Given the description of an element on the screen output the (x, y) to click on. 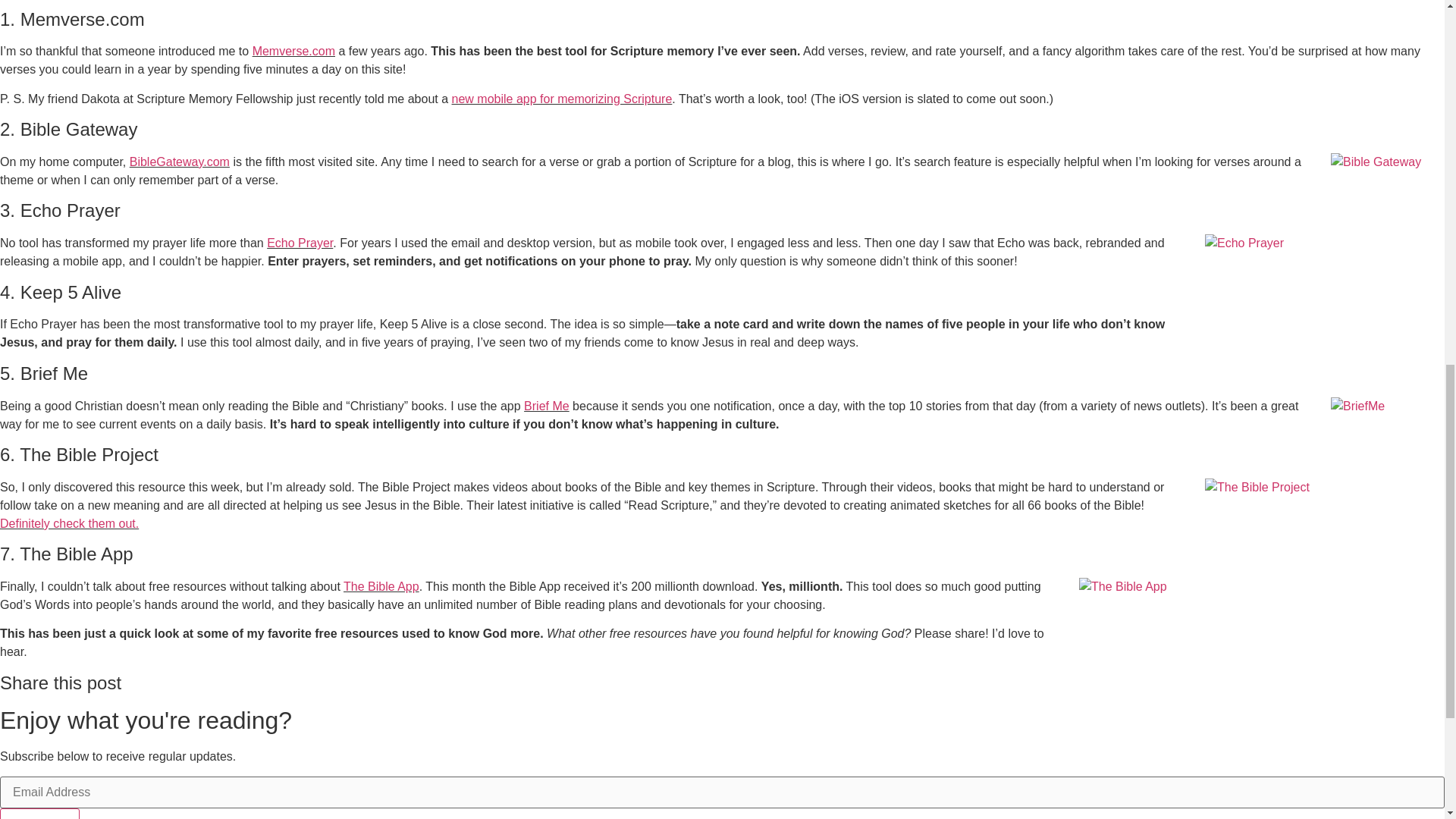
Brief Me (546, 405)
Memverse.com (292, 51)
Definitely check them out. (69, 522)
The Bible App (381, 585)
Echo Prayer (299, 242)
new mobile app for memorizing Scripture (561, 98)
BibleGateway.com (179, 161)
Subscribe (40, 813)
